Given the description of an element on the screen output the (x, y) to click on. 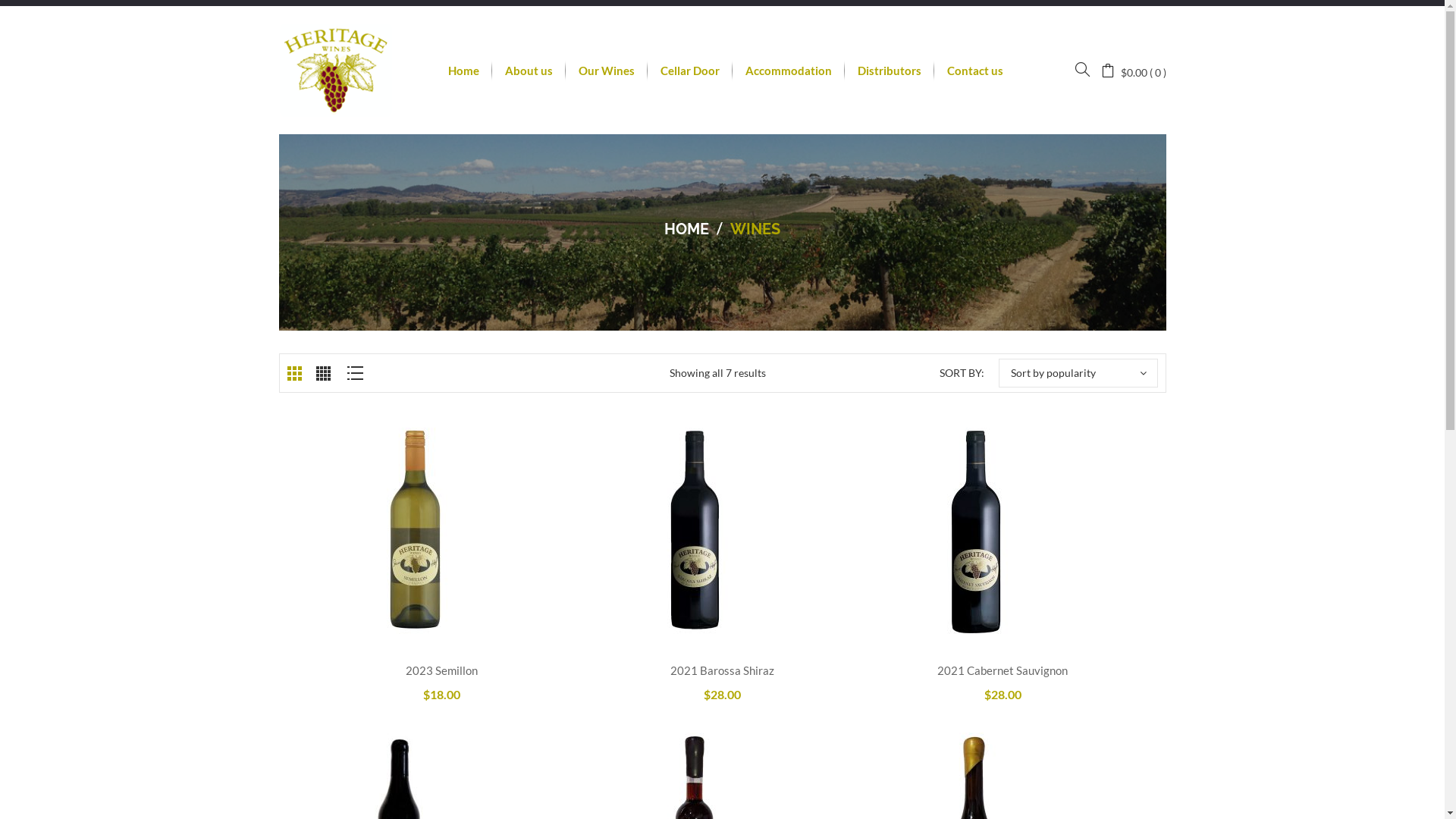
Home Element type: text (463, 70)
Our Wines Element type: text (606, 70)
HOME Element type: text (686, 228)
2021 Barossa Shiraz Element type: text (722, 670)
Distributors Element type: text (889, 70)
About us Element type: text (528, 70)
2023 Semillon Element type: text (441, 670)
$0.00 0 Element type: text (1133, 71)
Contact us Element type: text (975, 70)
Accommodation Element type: text (788, 70)
2021 Cabernet Sauvignon Element type: text (1002, 670)
heritage Winery Element type: hover (335, 69)
Cellar Door Element type: text (689, 70)
